Given the description of an element on the screen output the (x, y) to click on. 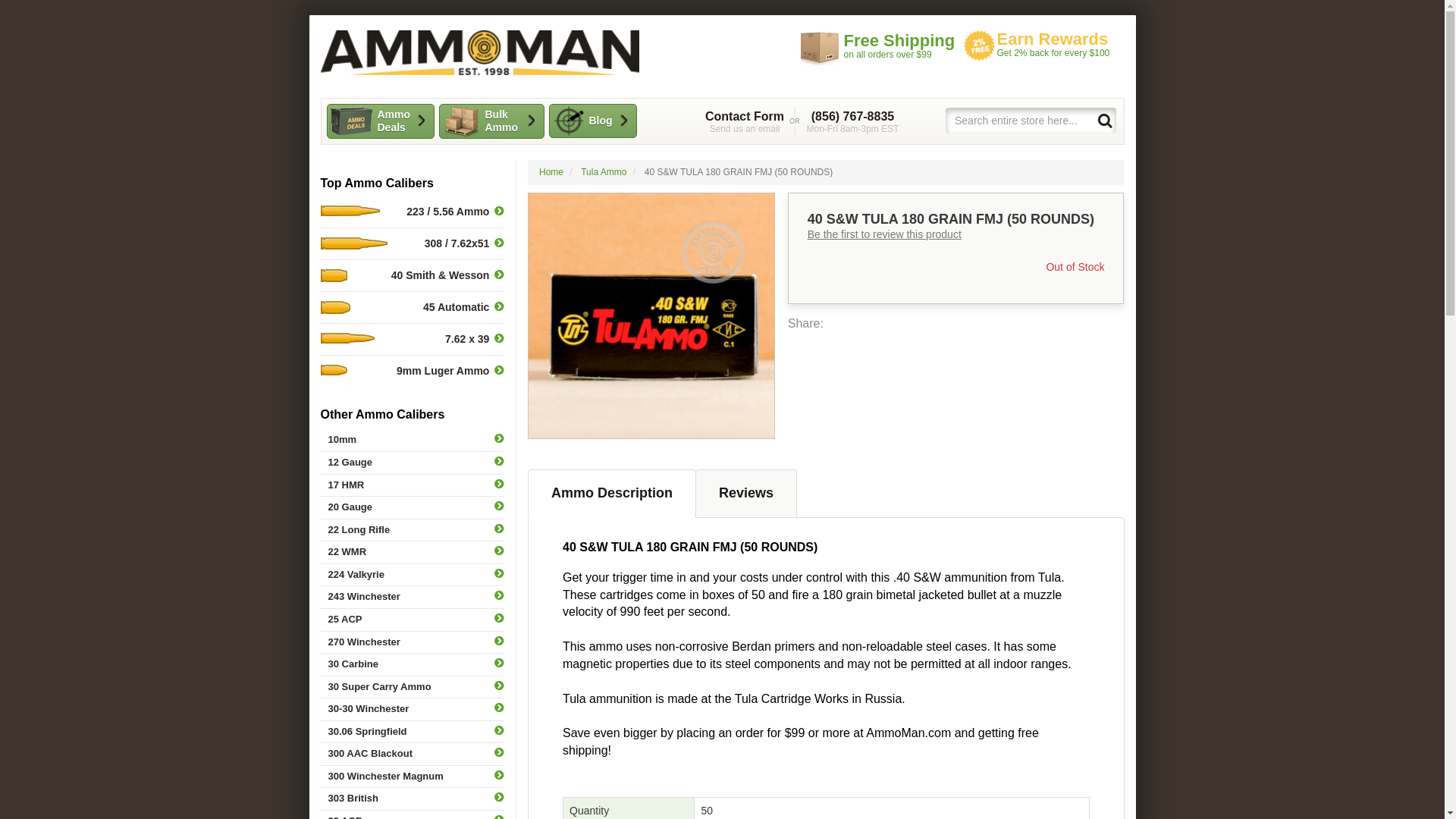
Discount Bulk Ammunition for Sale (479, 52)
Discount Ammunition for Sale at AmmoMan.com (479, 52)
30 Super Carry Ammo (411, 687)
22 Long Rifle (411, 530)
30 Carbine (411, 664)
270 Winchester (411, 641)
45 Automatic (411, 306)
Blog (744, 121)
20 Gauge (592, 121)
